Given the description of an element on the screen output the (x, y) to click on. 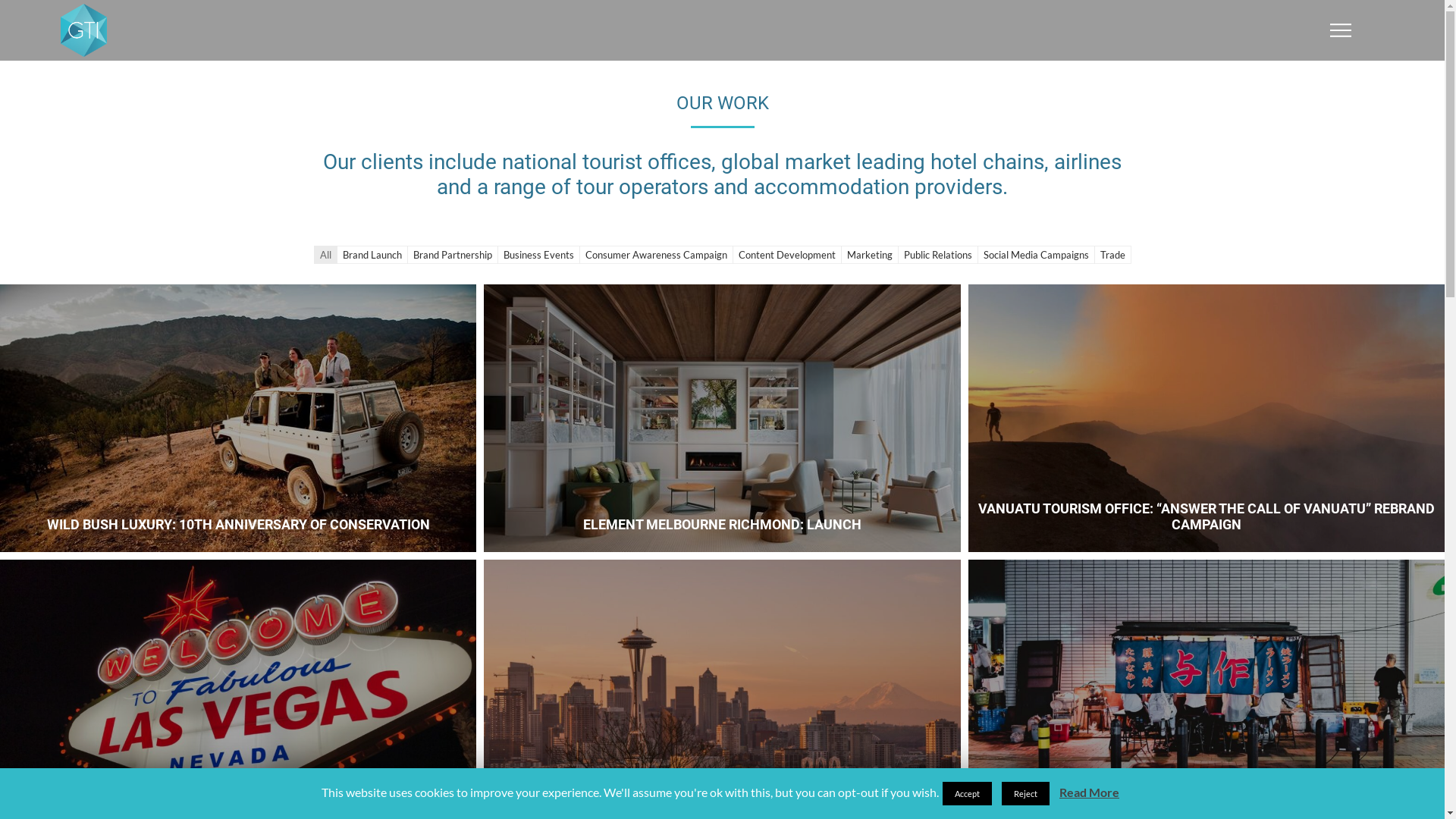
Read More Element type: text (1089, 792)
Accept Element type: text (966, 793)
Reject Element type: text (1025, 793)
